Given the description of an element on the screen output the (x, y) to click on. 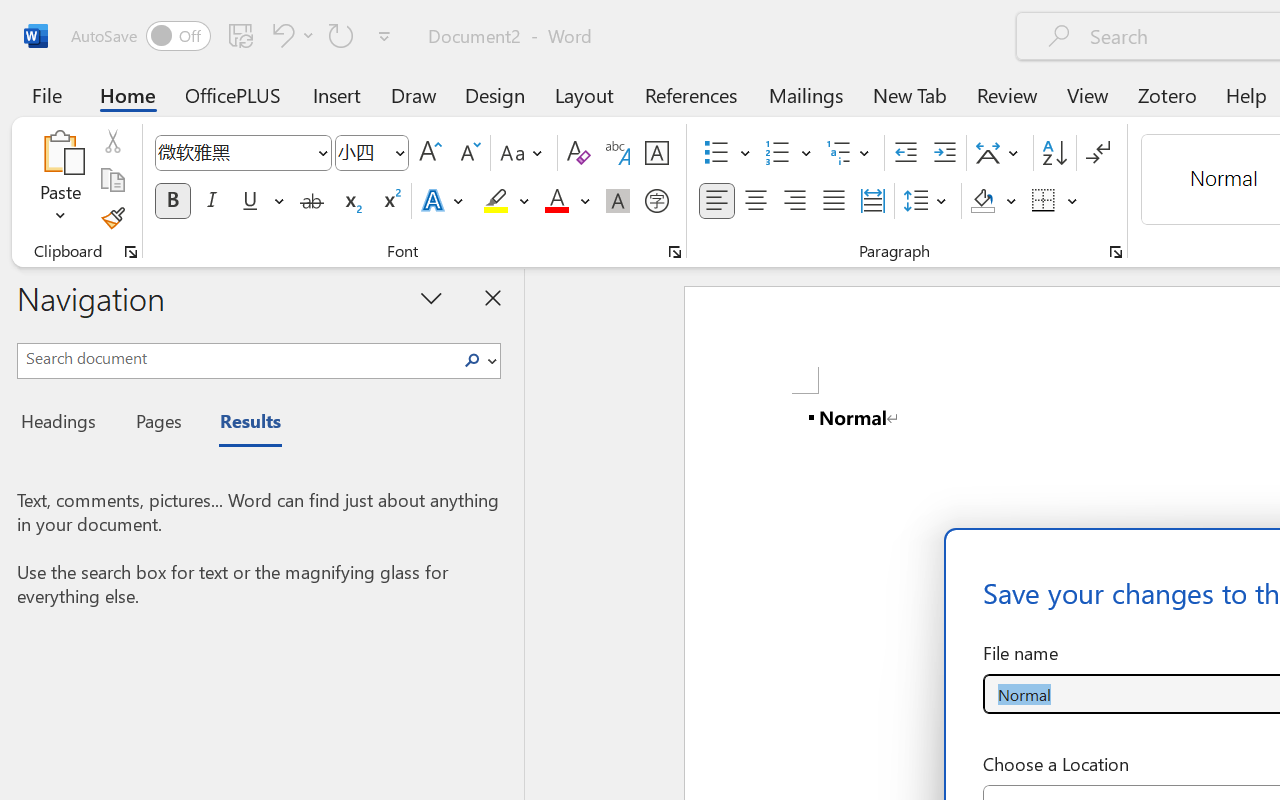
Character Shading (618, 201)
Paragraph... (1115, 252)
Enclose Characters... (656, 201)
Font Size (362, 152)
Bullets (727, 153)
Align Left (716, 201)
Font... (675, 252)
Grow Font (430, 153)
Shading (993, 201)
